Given the description of an element on the screen output the (x, y) to click on. 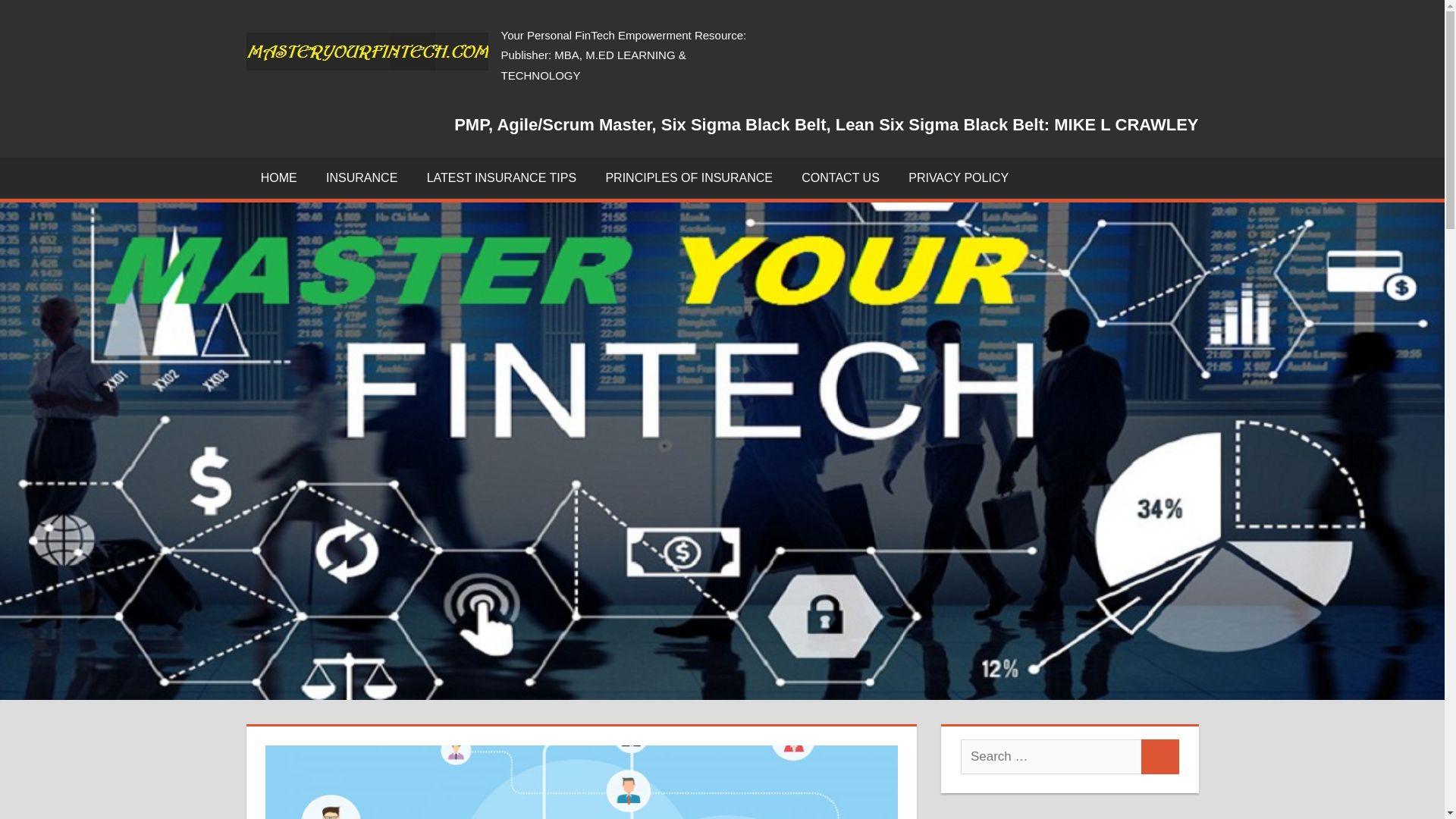
Search for: (1050, 756)
PRIVACY POLICY (958, 178)
LATEST INSURANCE TIPS (501, 178)
PRINCIPLES OF INSURANCE (689, 178)
INSURANCE (361, 178)
HOME (278, 178)
CONTACT US (840, 178)
Search (1160, 756)
